Given the description of an element on the screen output the (x, y) to click on. 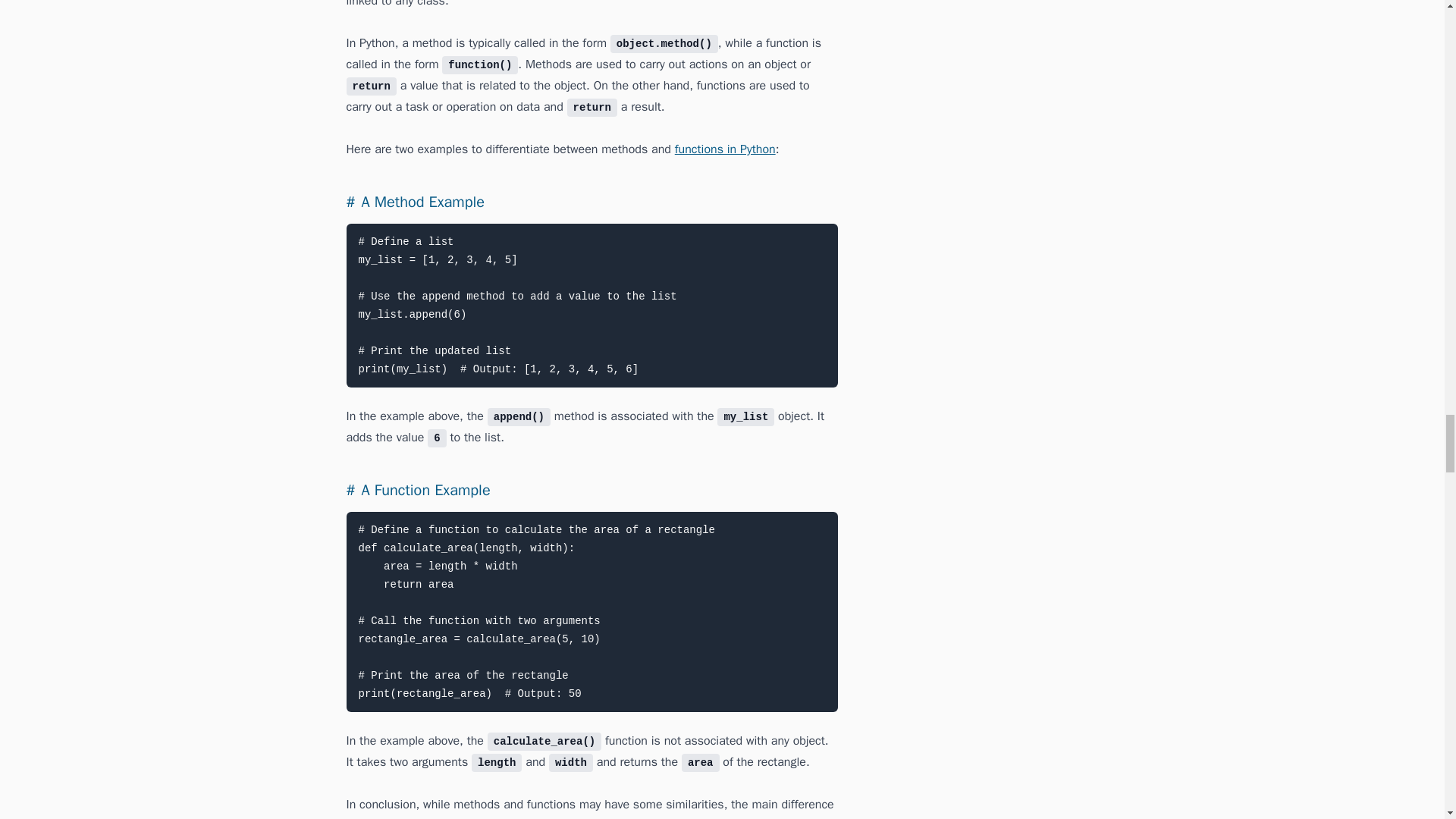
functions in Python (725, 149)
